Given the description of an element on the screen output the (x, y) to click on. 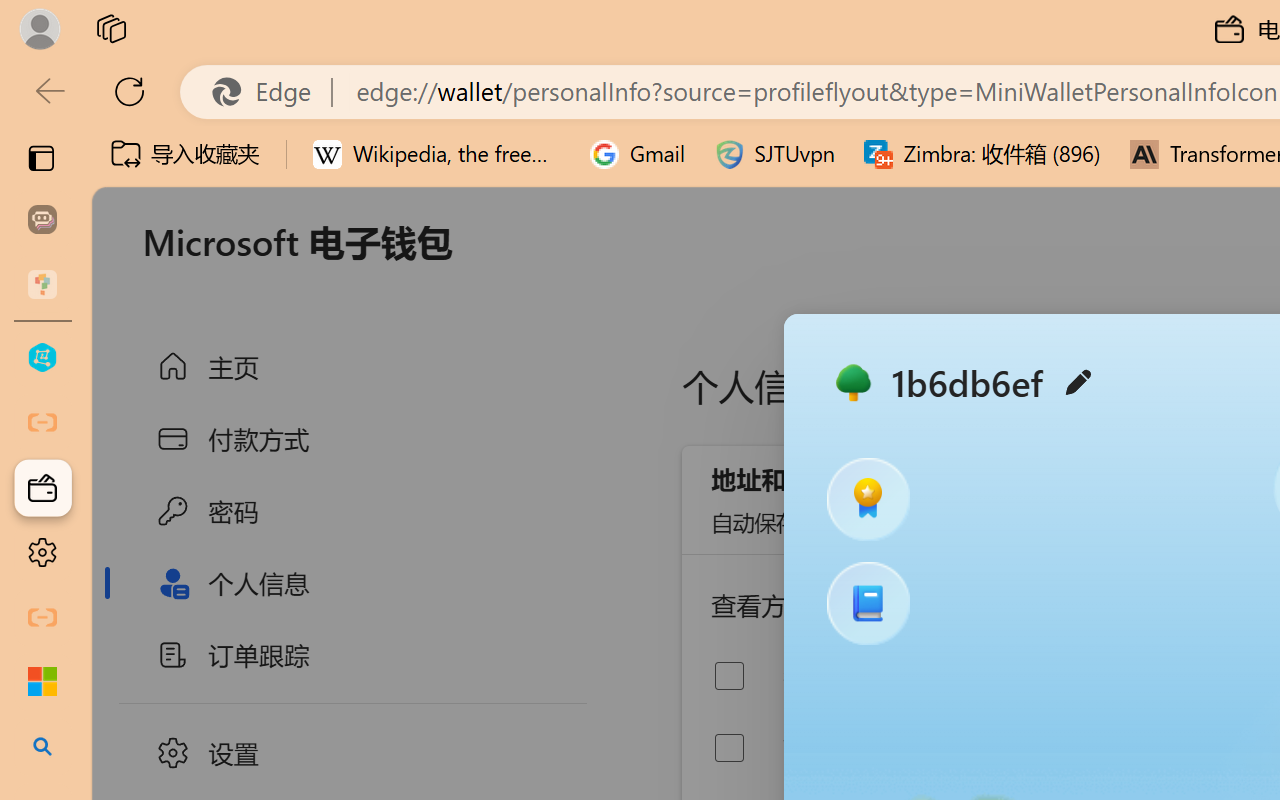
Wikipedia, the free encyclopedia (437, 154)
Edge (269, 91)
wangyian_dsw - DSW (42, 357)
